Given the description of an element on the screen output the (x, y) to click on. 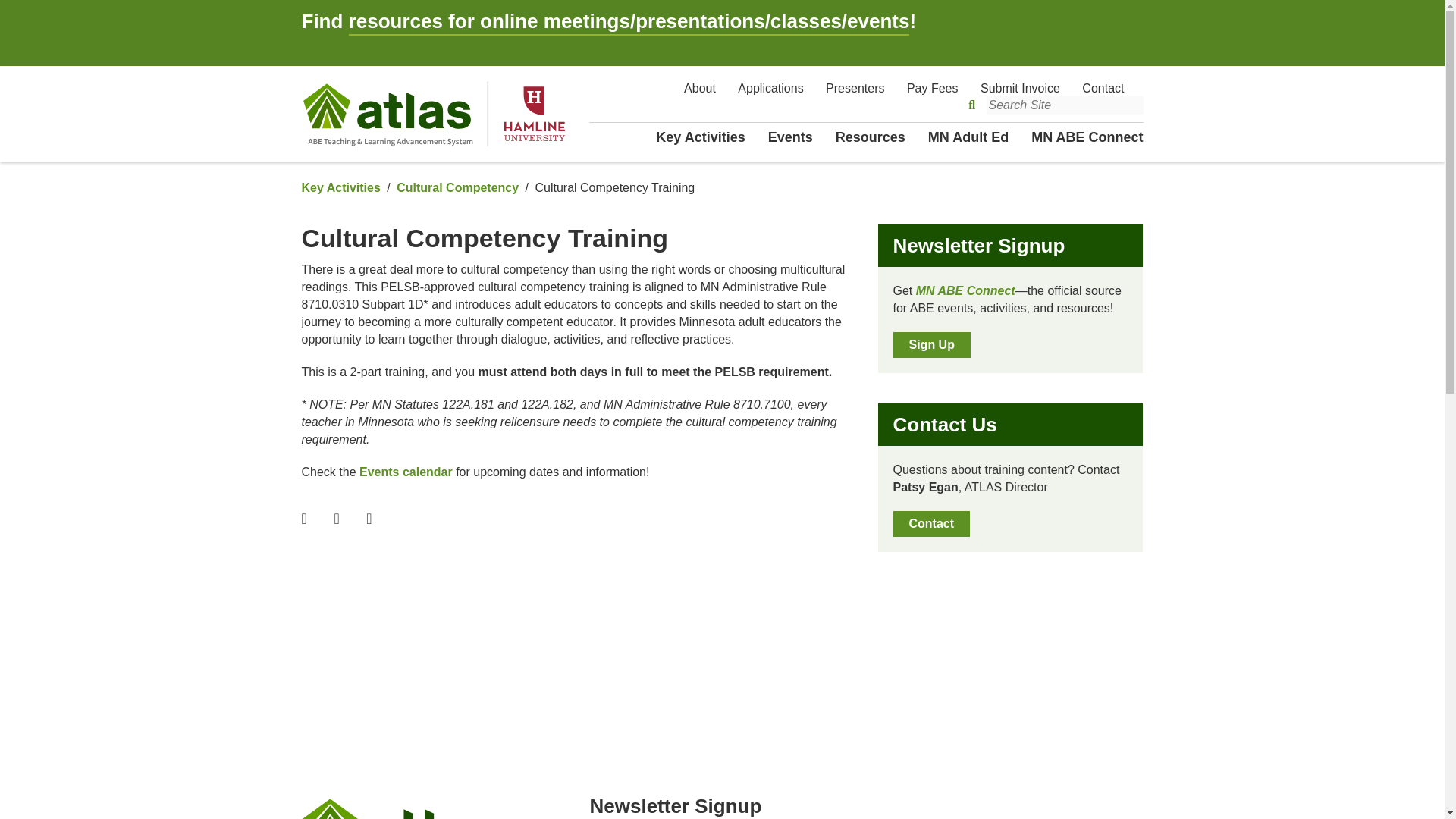
Pay Fees (932, 88)
Applications (770, 88)
Resources (870, 136)
Submit Invoice (1019, 88)
Contact (932, 524)
Cultural Competency (457, 187)
MN ABE Connect (1086, 136)
Key Activities (340, 187)
Sign Up (932, 344)
Events (790, 136)
